Given the description of an element on the screen output the (x, y) to click on. 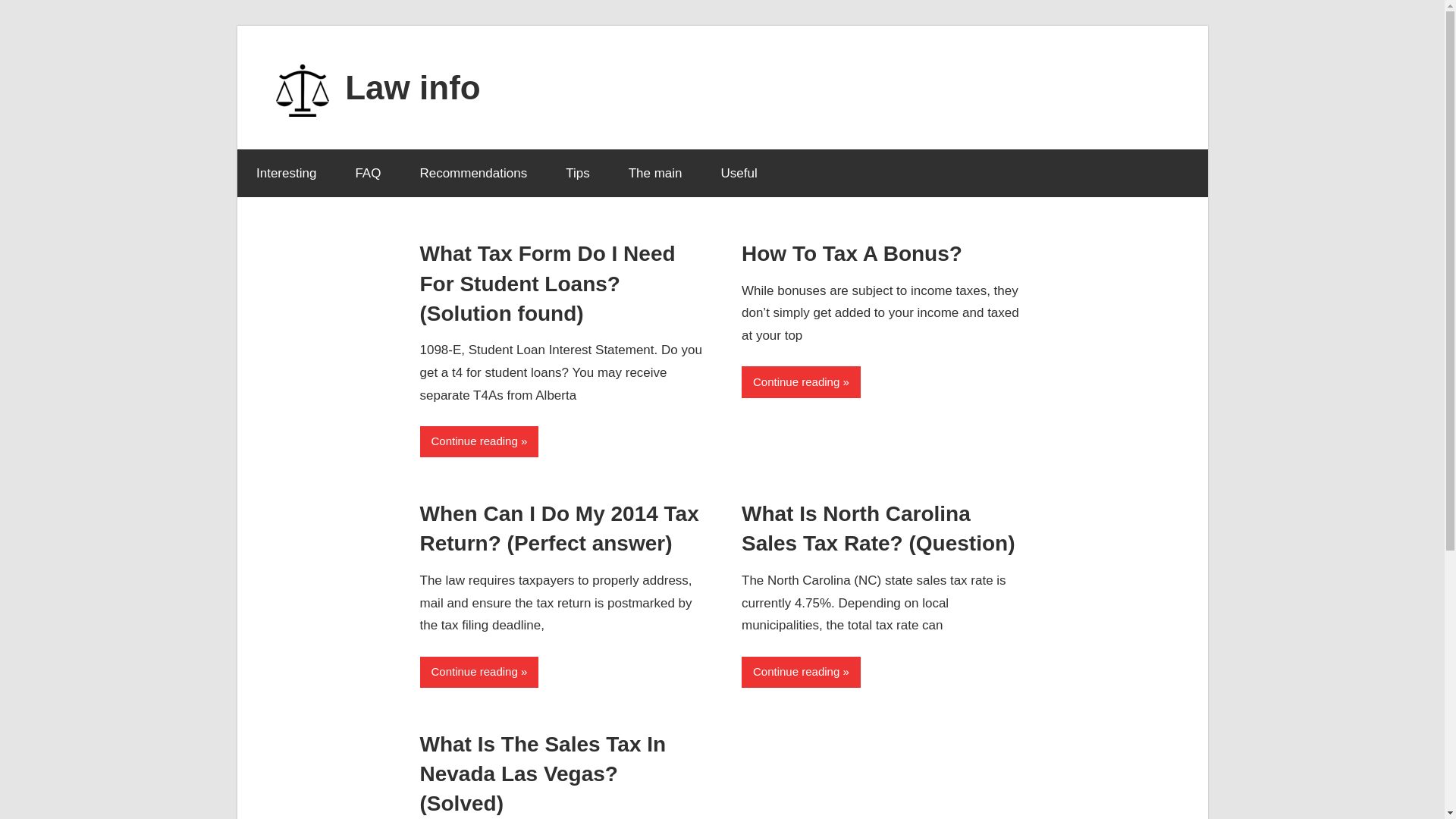
Continue reading (800, 381)
Useful (738, 172)
Interesting (284, 172)
Continue reading (479, 671)
Continue reading (800, 671)
Continue reading (479, 441)
Law info (412, 86)
How To Tax A Bonus? (851, 253)
FAQ (368, 172)
Tips (578, 172)
Recommendations (473, 172)
The main (654, 172)
